Given the description of an element on the screen output the (x, y) to click on. 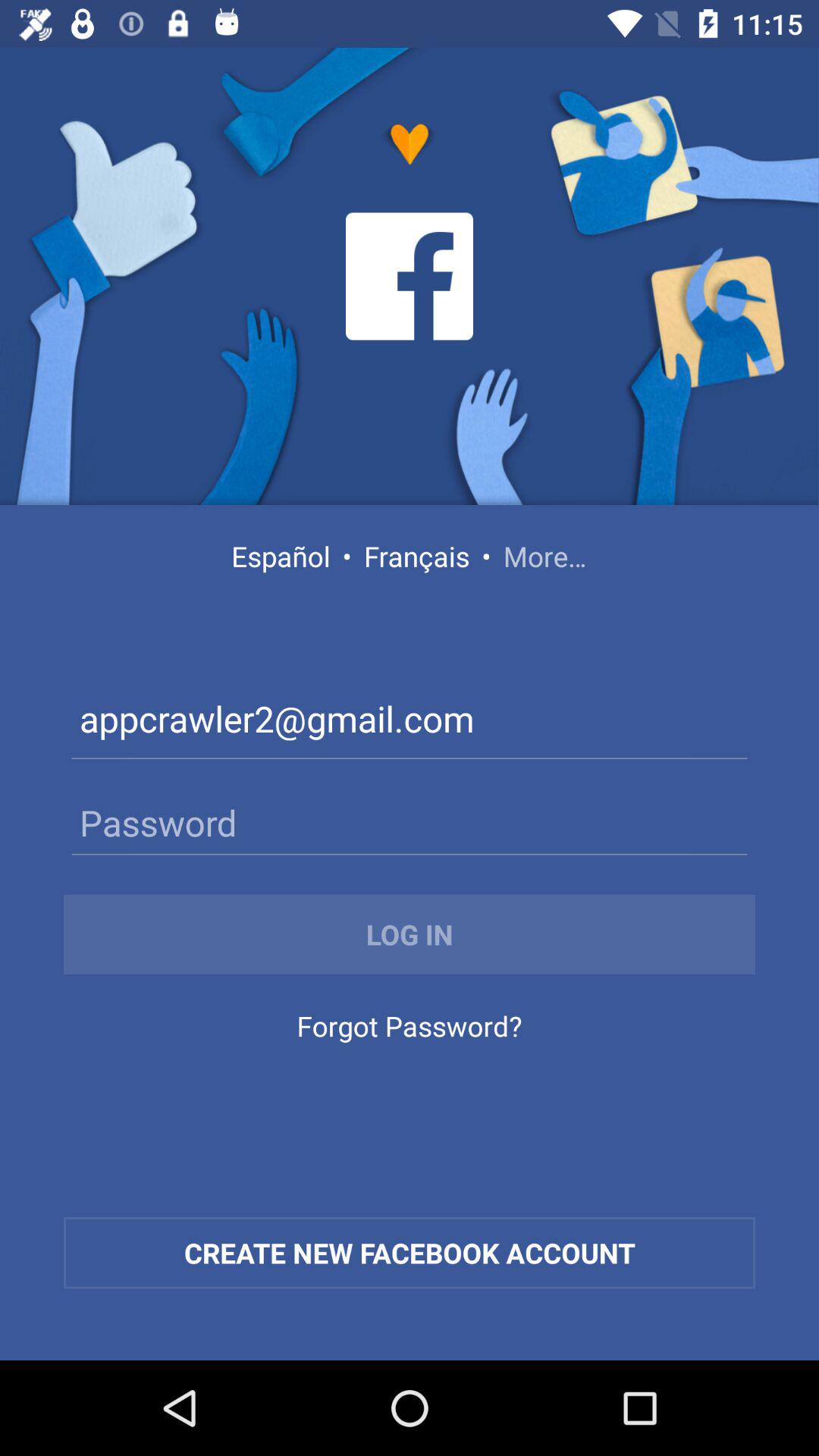
tap item below the appcrawler2@gmail.com (409, 822)
